Given the description of an element on the screen output the (x, y) to click on. 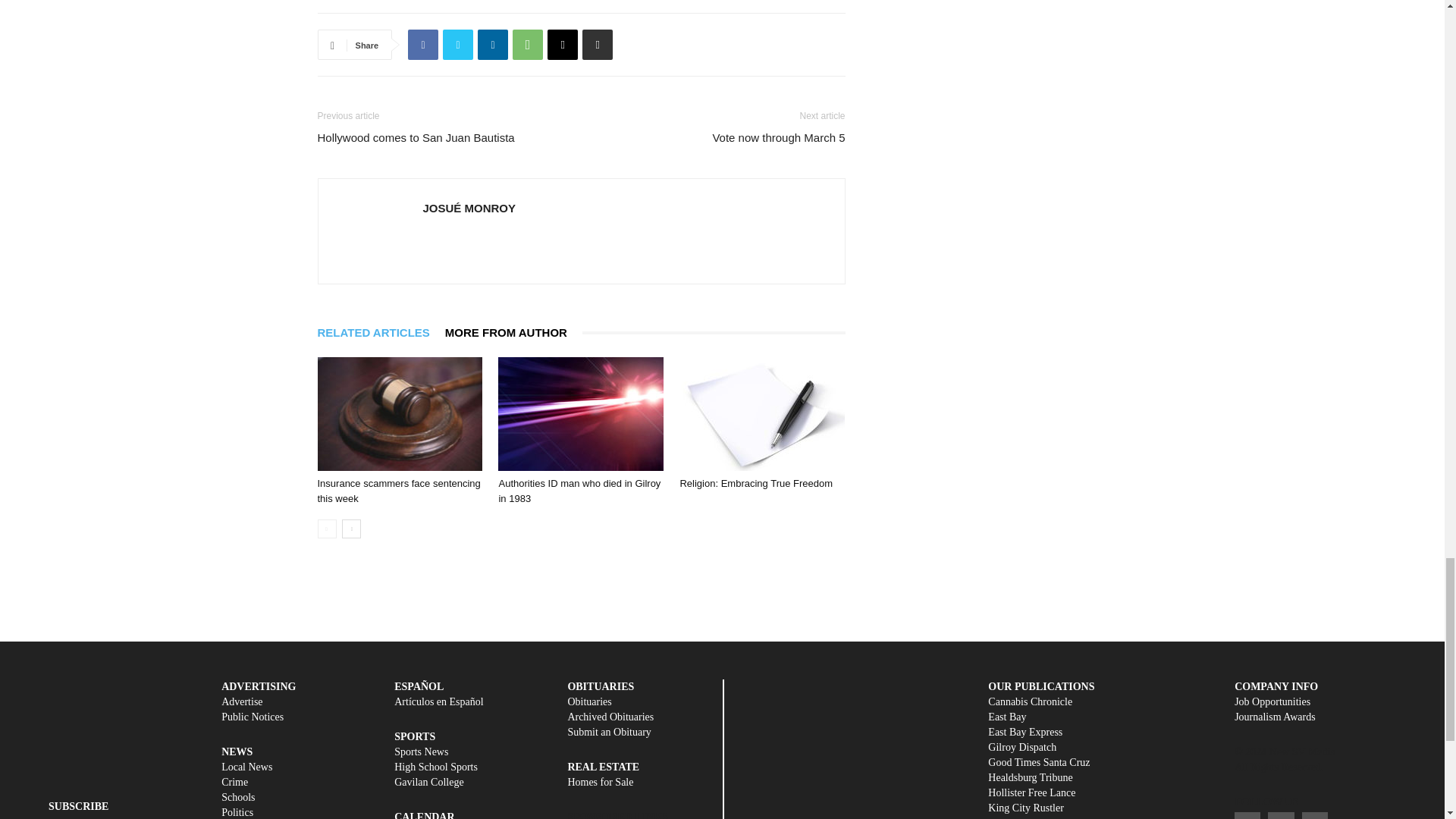
Email (562, 44)
Print (597, 44)
Twitter (457, 44)
WhatsApp (527, 44)
Linkedin (492, 44)
Facebook (422, 44)
